Given the description of an element on the screen output the (x, y) to click on. 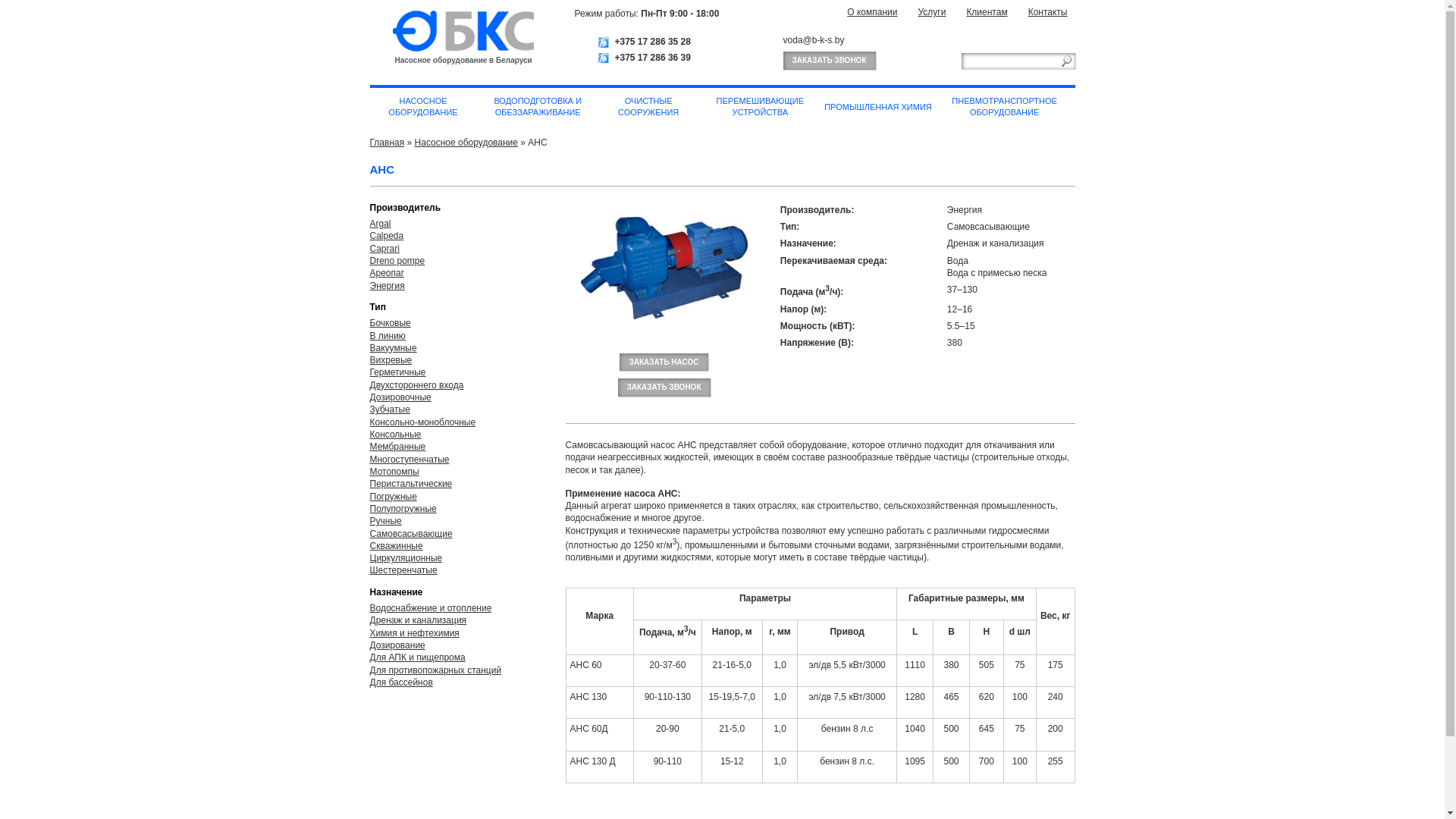
Dreno pompe Element type: text (397, 260)
Argal Element type: text (380, 223)
Calpeda Element type: text (387, 235)
voda@b-k-s.by Element type: text (813, 39)
Caprari Element type: text (384, 248)
